Given the description of an element on the screen output the (x, y) to click on. 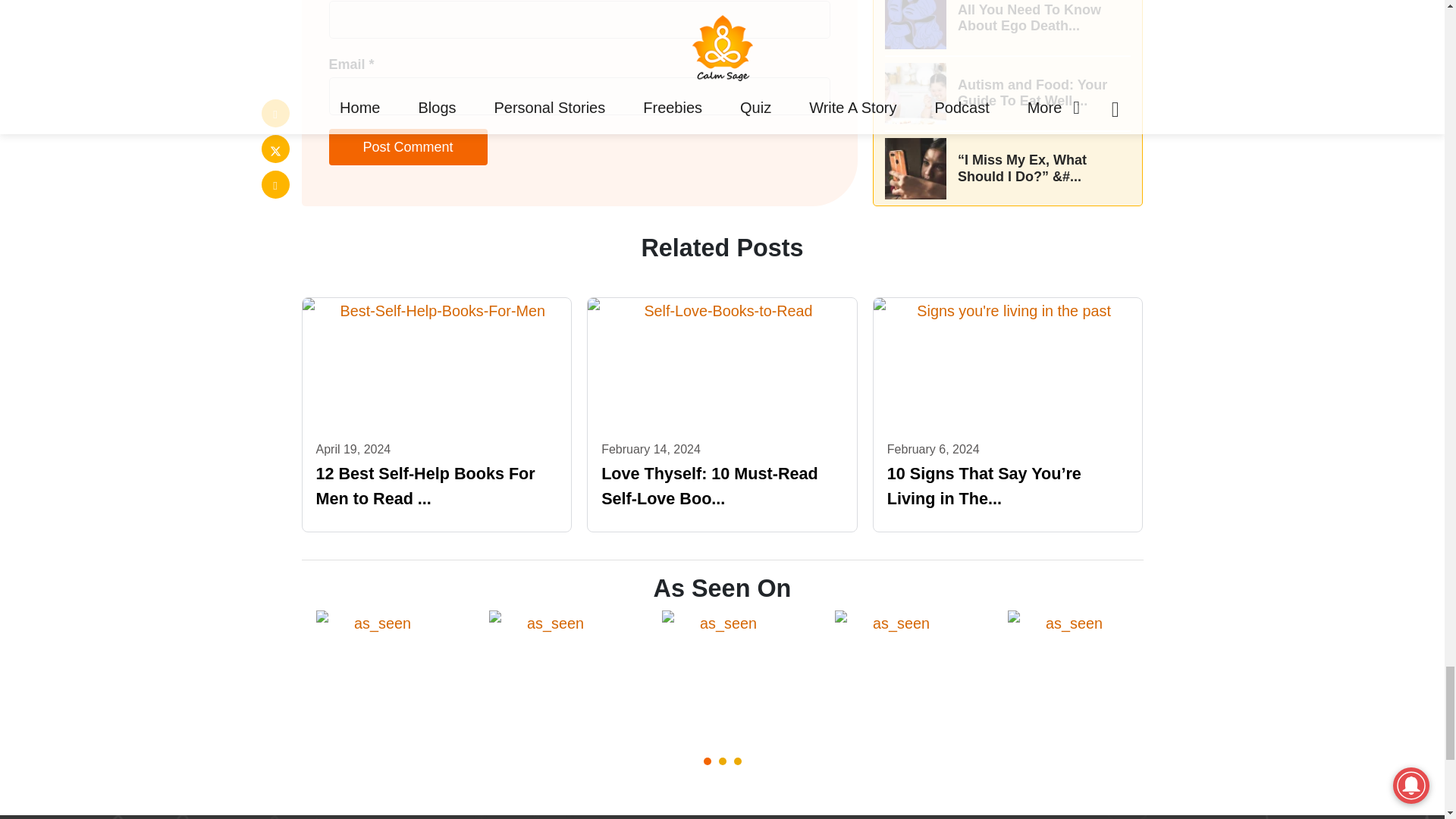
Post Comment (408, 146)
Post Comment (408, 146)
